Given the description of an element on the screen output the (x, y) to click on. 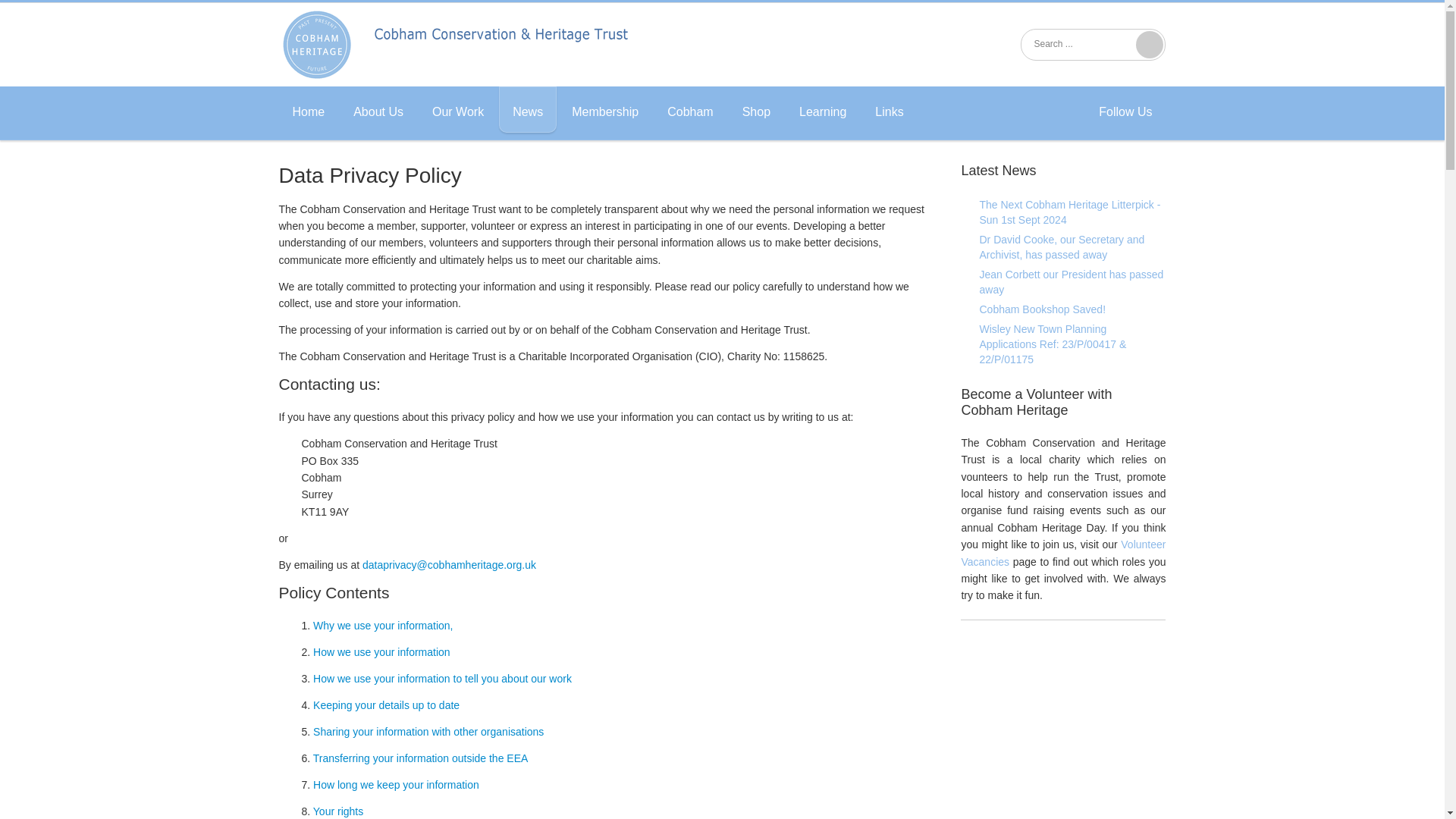
Home (309, 109)
Search ... (1080, 43)
Search (1149, 44)
Our Work (458, 109)
Search (1149, 44)
About Us (377, 109)
